Given the description of an element on the screen output the (x, y) to click on. 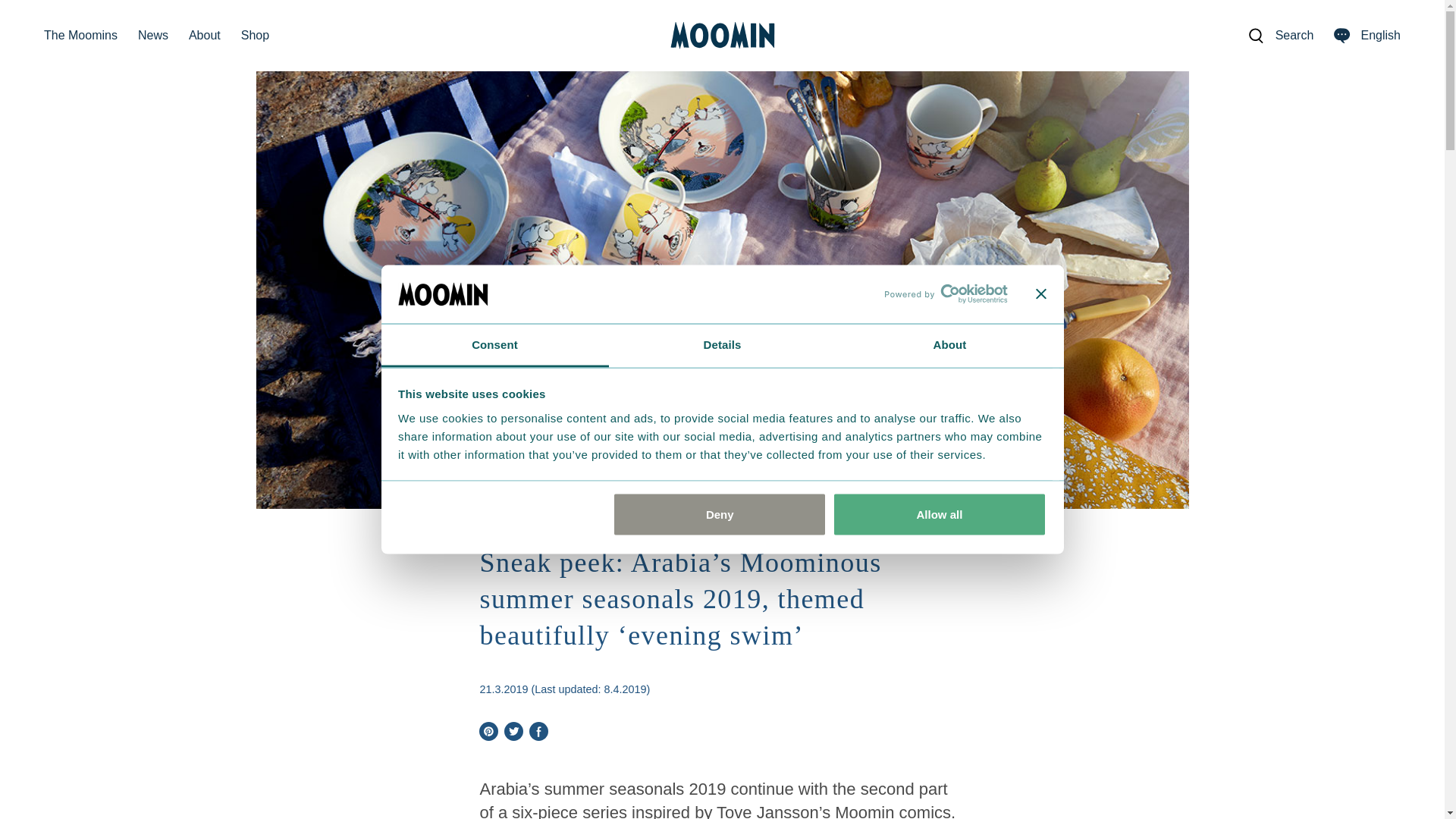
Consent (494, 344)
Details (721, 344)
About (948, 344)
